Given the description of an element on the screen output the (x, y) to click on. 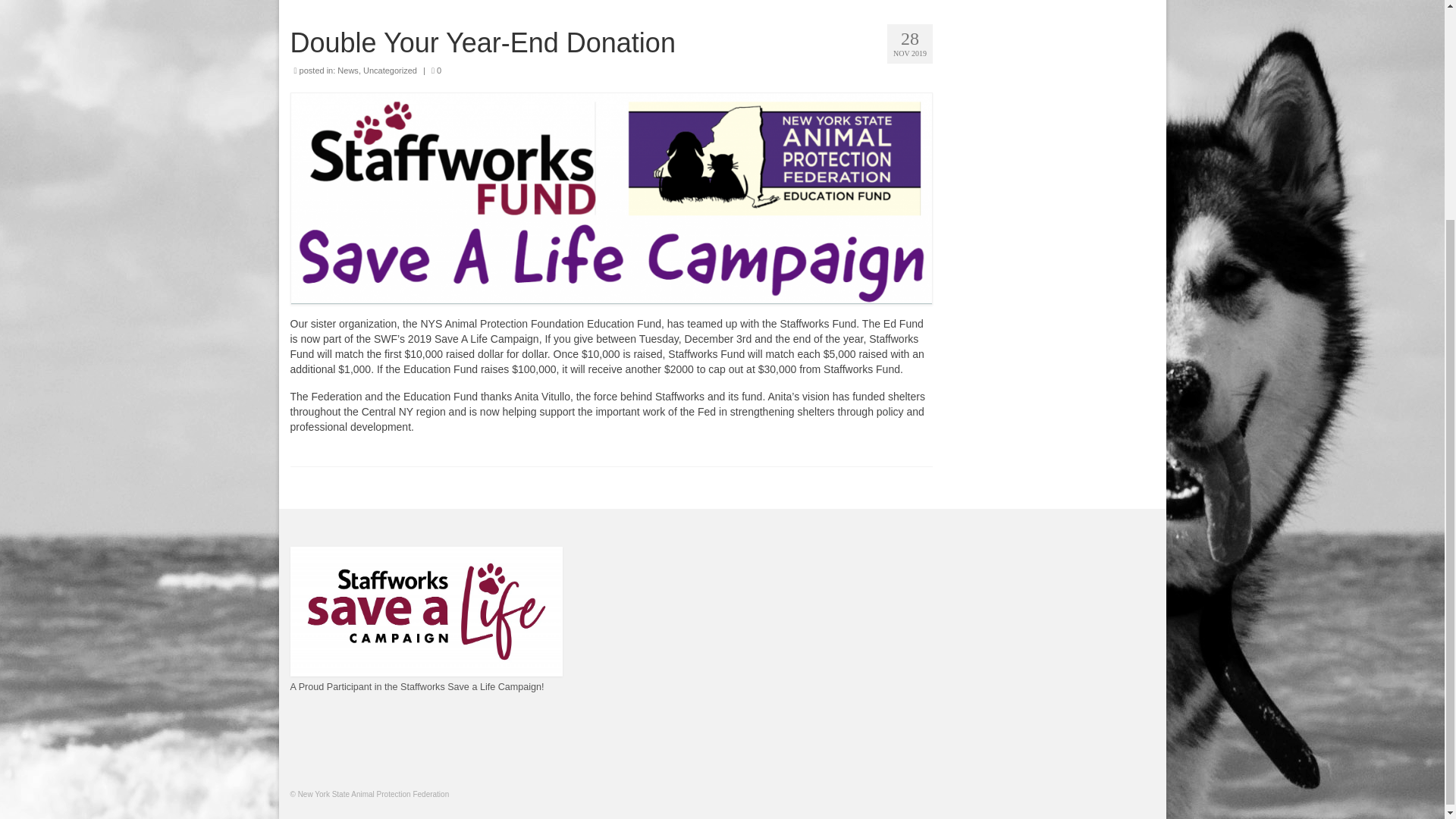
News (347, 70)
Uncategorized (389, 70)
